Given the description of an element on the screen output the (x, y) to click on. 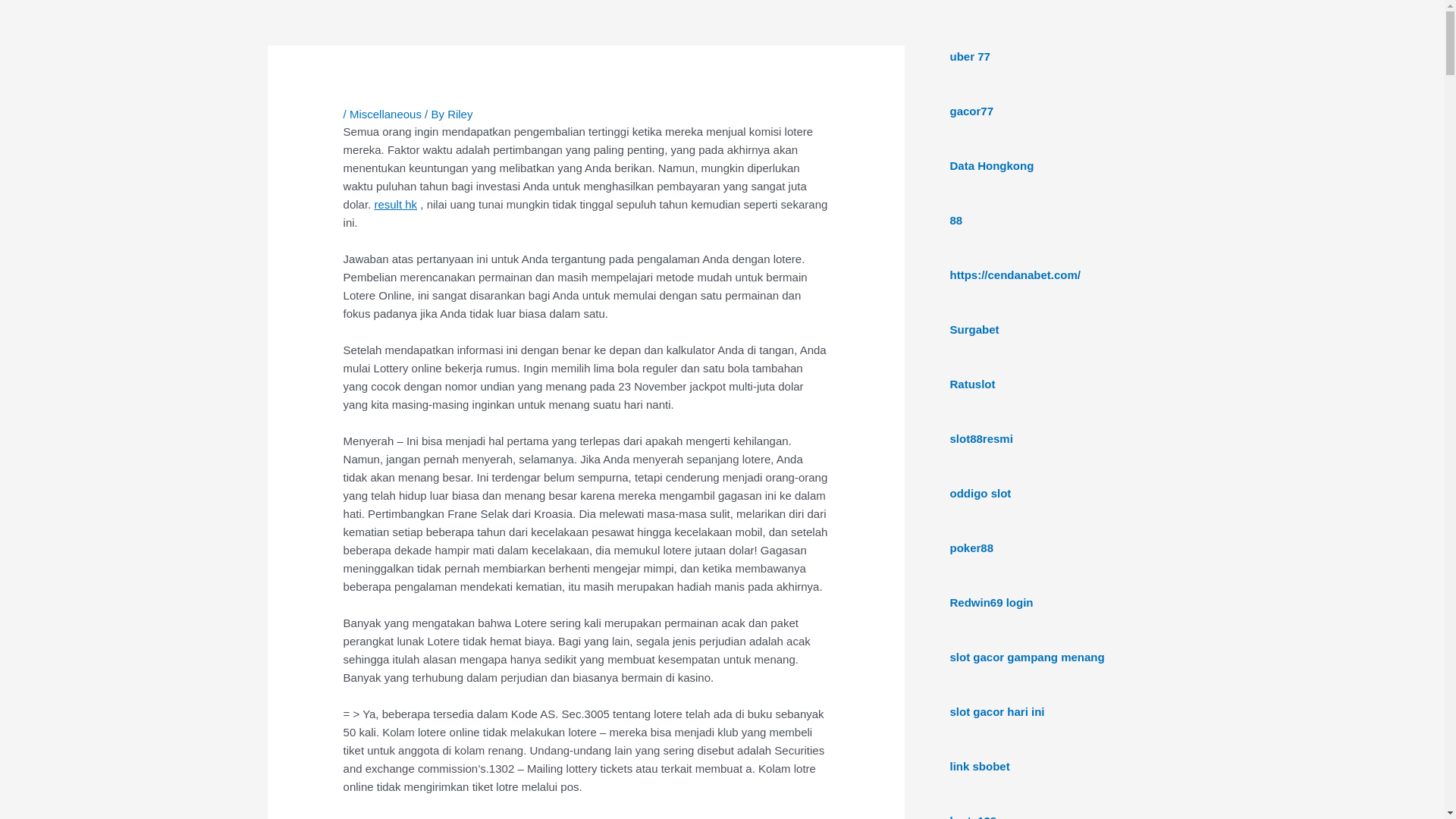
link sbobet Element type: text (979, 765)
88 Element type: text (955, 219)
Redwin69 login Element type: text (990, 602)
oddigo slot Element type: text (979, 492)
Ratuslot Element type: text (971, 383)
Data Hongkong Element type: text (991, 165)
Riley Element type: text (459, 113)
Miscellaneous Element type: text (385, 113)
Surgabet Element type: text (973, 329)
result hk Element type: text (395, 203)
uber 77 Element type: text (969, 56)
gacor77 Element type: text (971, 110)
poker88 Element type: text (971, 547)
https://cendanabet.com/ Element type: text (1014, 274)
slot gacor gampang menang Element type: text (1026, 656)
slot gacor hari ini Element type: text (996, 711)
slot88resmi Element type: text (980, 438)
